Given the description of an element on the screen output the (x, y) to click on. 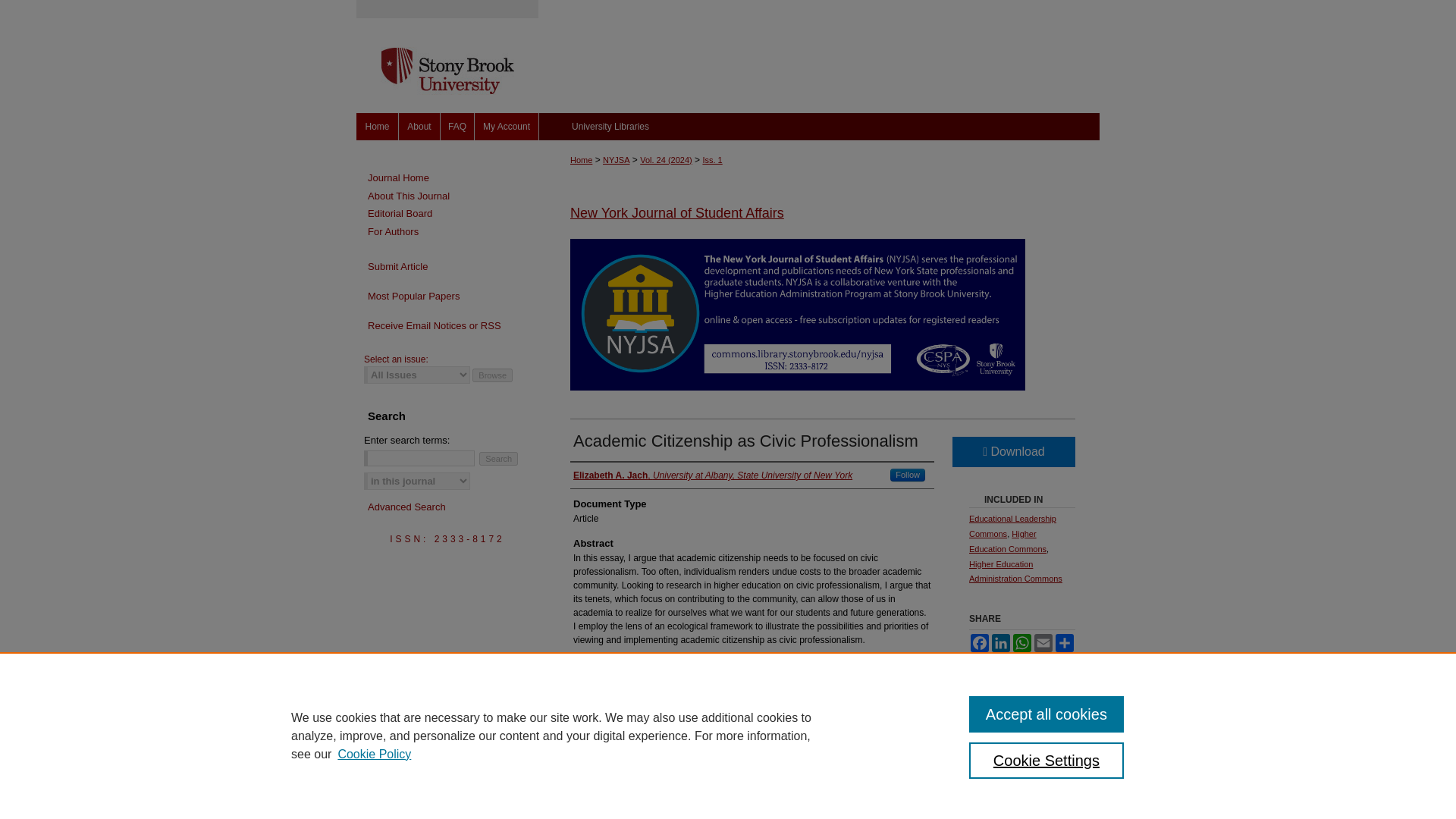
Academic Commons (818, 56)
Email (1043, 642)
WhatsApp (1021, 642)
Home (581, 159)
Browse (491, 375)
Educational Leadership Commons (1013, 526)
Most Popular Papers (447, 296)
Follow Elizabeth A. Jach (906, 474)
About This Journal (453, 196)
For Authors (453, 232)
FAQ (457, 126)
Higher Education Commons (1007, 541)
Higher Education Administration Commons (1015, 571)
Search (498, 459)
